Given the description of an element on the screen output the (x, y) to click on. 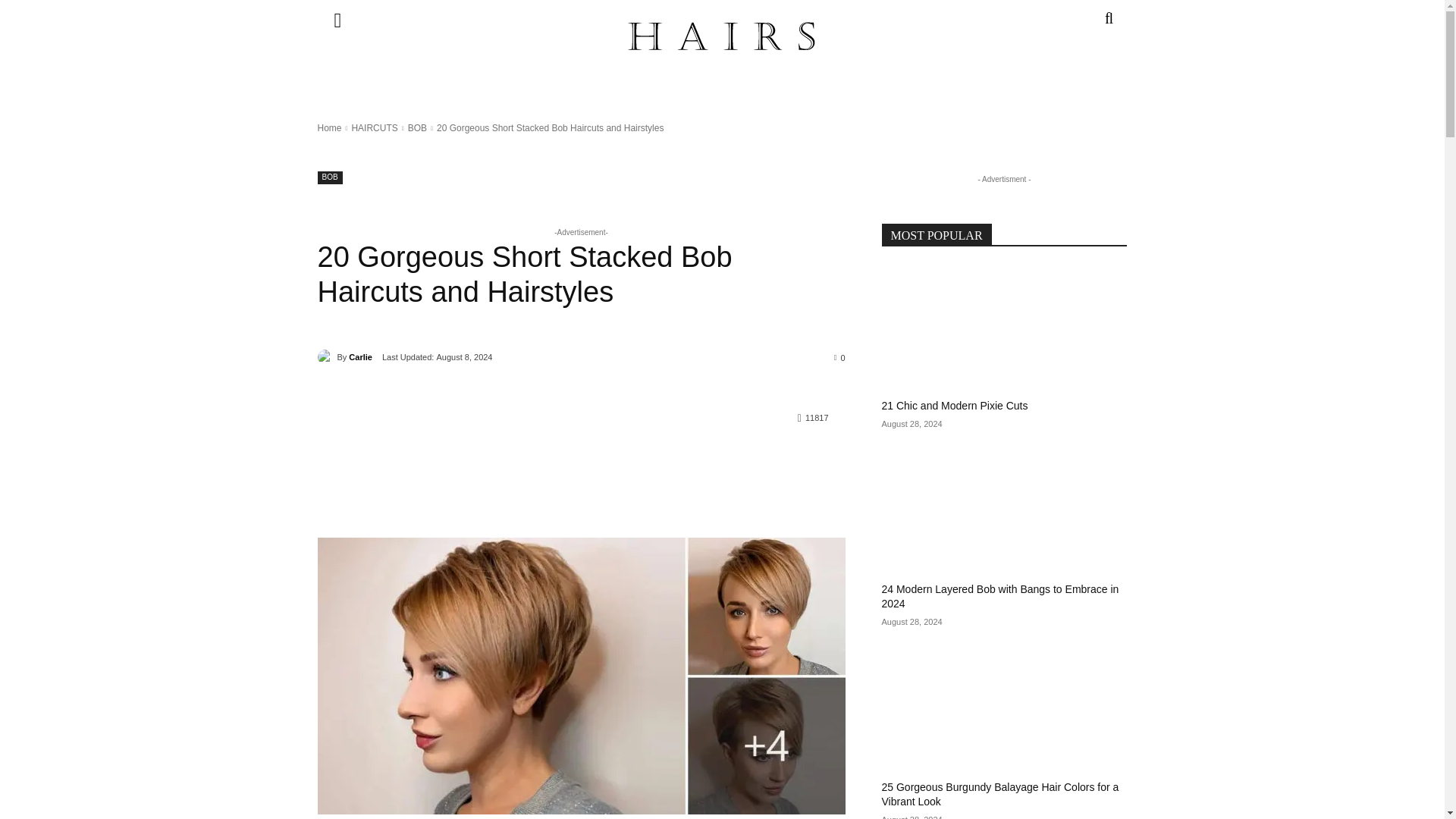
View all posts in HAIRCUTS (373, 127)
Carlie (326, 356)
View all posts in BOB (416, 127)
